Given the description of an element on the screen output the (x, y) to click on. 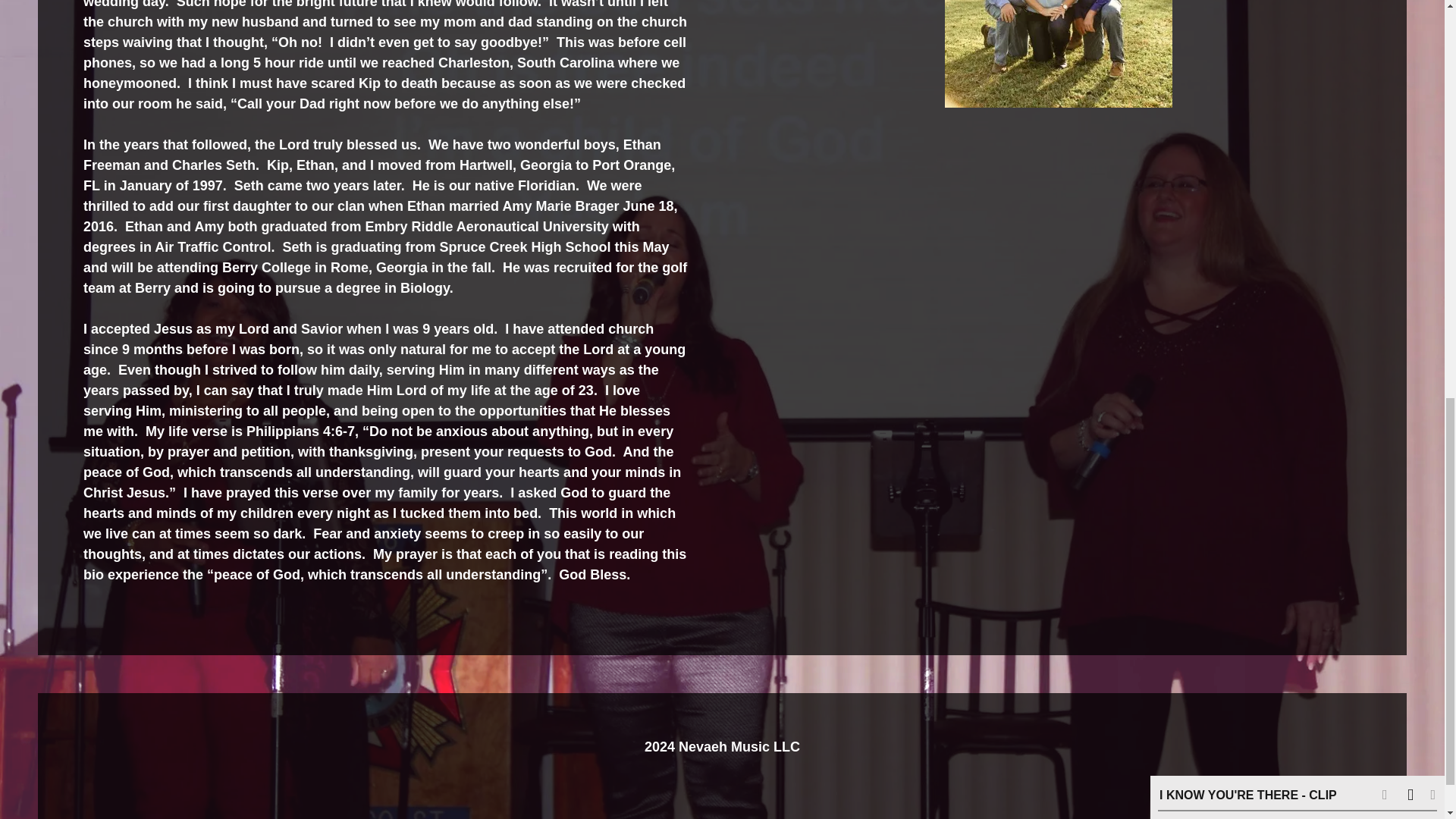
I Know You're There - Clip (1247, 132)
I Know You're There - Clip (1247, 132)
How You Hold Me (1226, 168)
